Given the description of an element on the screen output the (x, y) to click on. 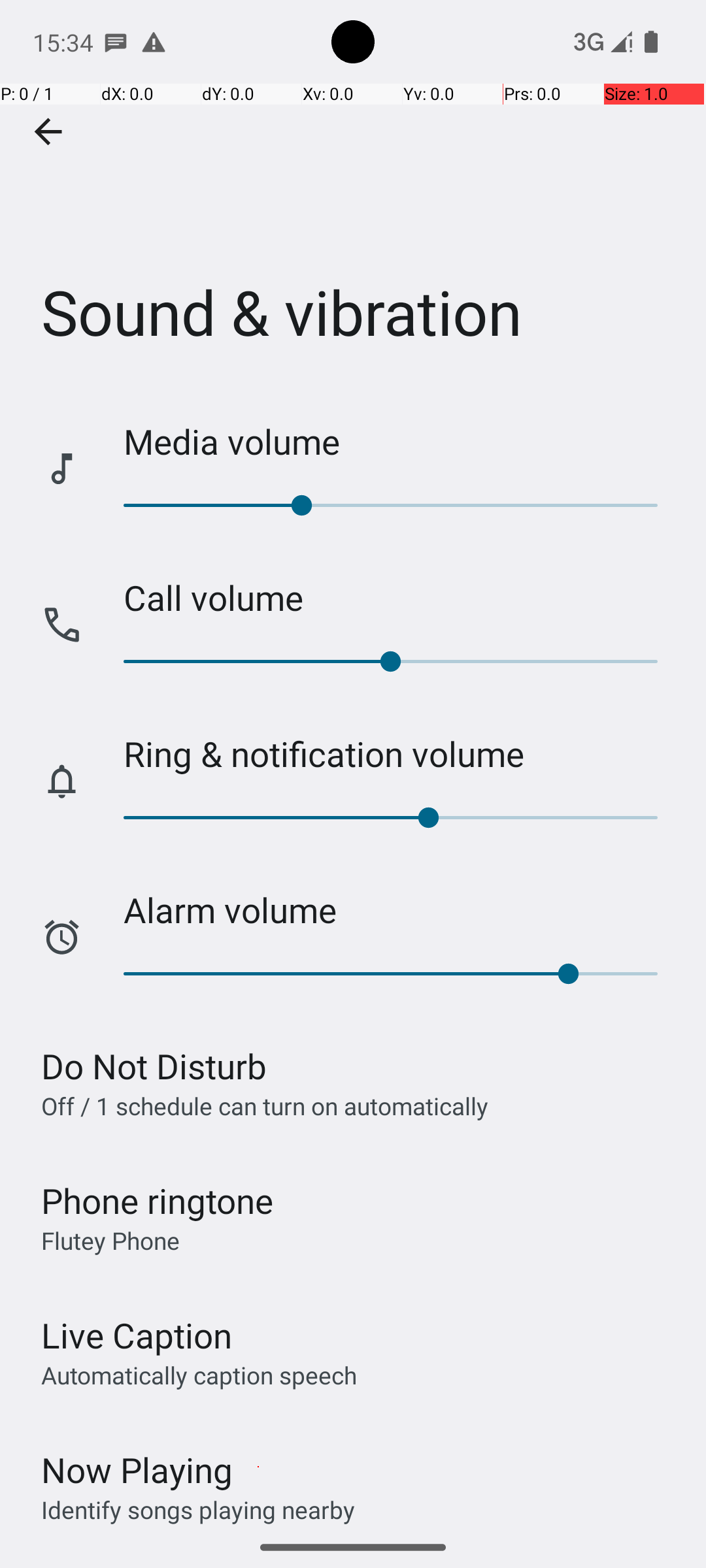
Media volume Element type: android.widget.TextView (400, 441)
Call volume Element type: android.widget.TextView (400, 597)
Ring & notification volume Element type: android.widget.TextView (400, 753)
Alarm volume Element type: android.widget.TextView (400, 909)
Do Not Disturb Element type: android.widget.TextView (153, 1065)
Off / 1 schedule can turn on automatically Element type: android.widget.TextView (264, 1105)
Phone ringtone Element type: android.widget.TextView (157, 1200)
Flutey Phone Element type: android.widget.TextView (110, 1240)
Live Caption Element type: android.widget.TextView (136, 1334)
Automatically caption speech Element type: android.widget.TextView (199, 1374)
Now Playing Element type: android.widget.TextView (136, 1469)
Identify songs playing nearby Element type: android.widget.TextView (197, 1509)
